Given the description of an element on the screen output the (x, y) to click on. 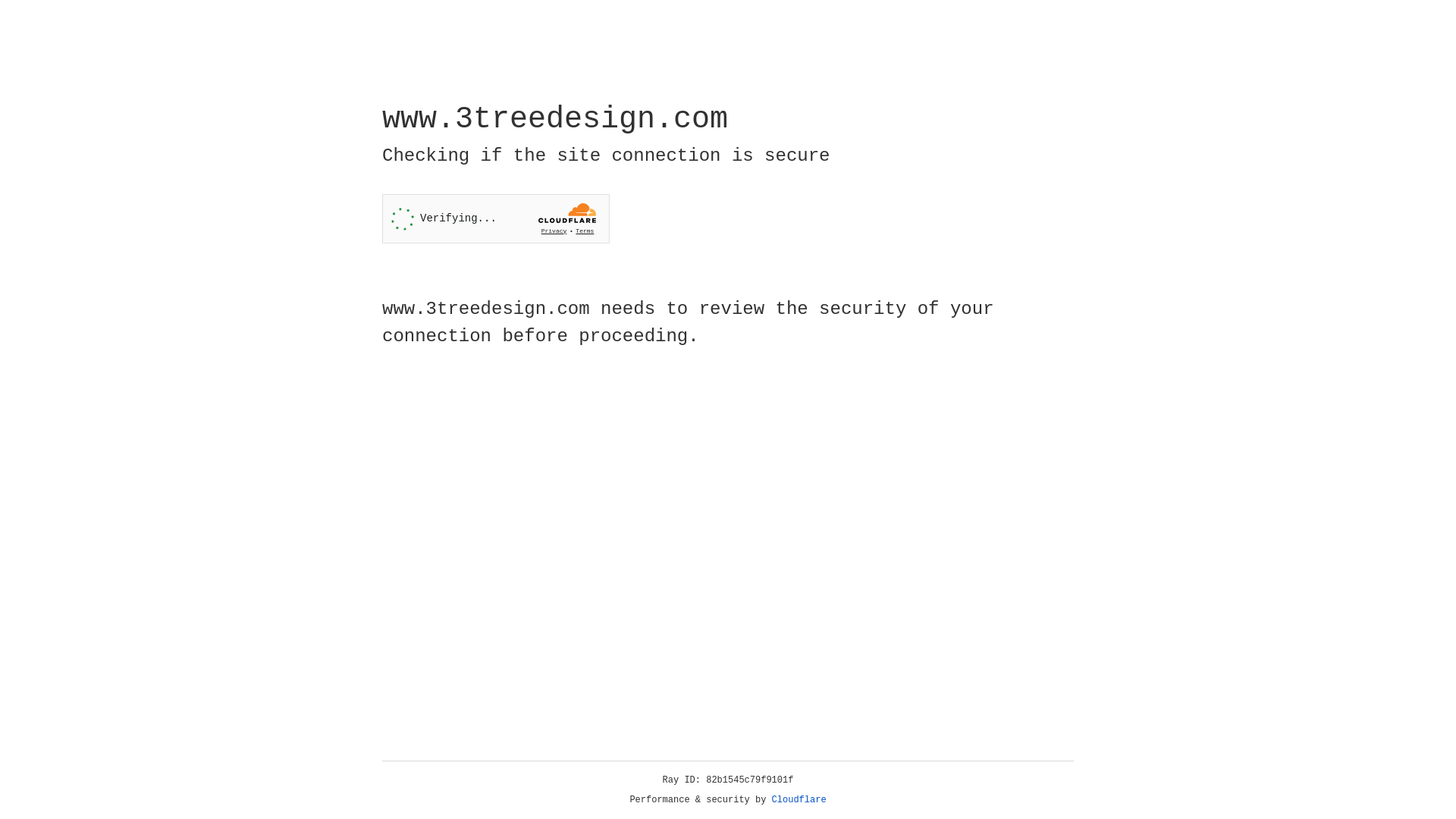
Widget containing a Cloudflare security challenge Element type: hover (495, 218)
Cloudflare Element type: text (798, 799)
